Given the description of an element on the screen output the (x, y) to click on. 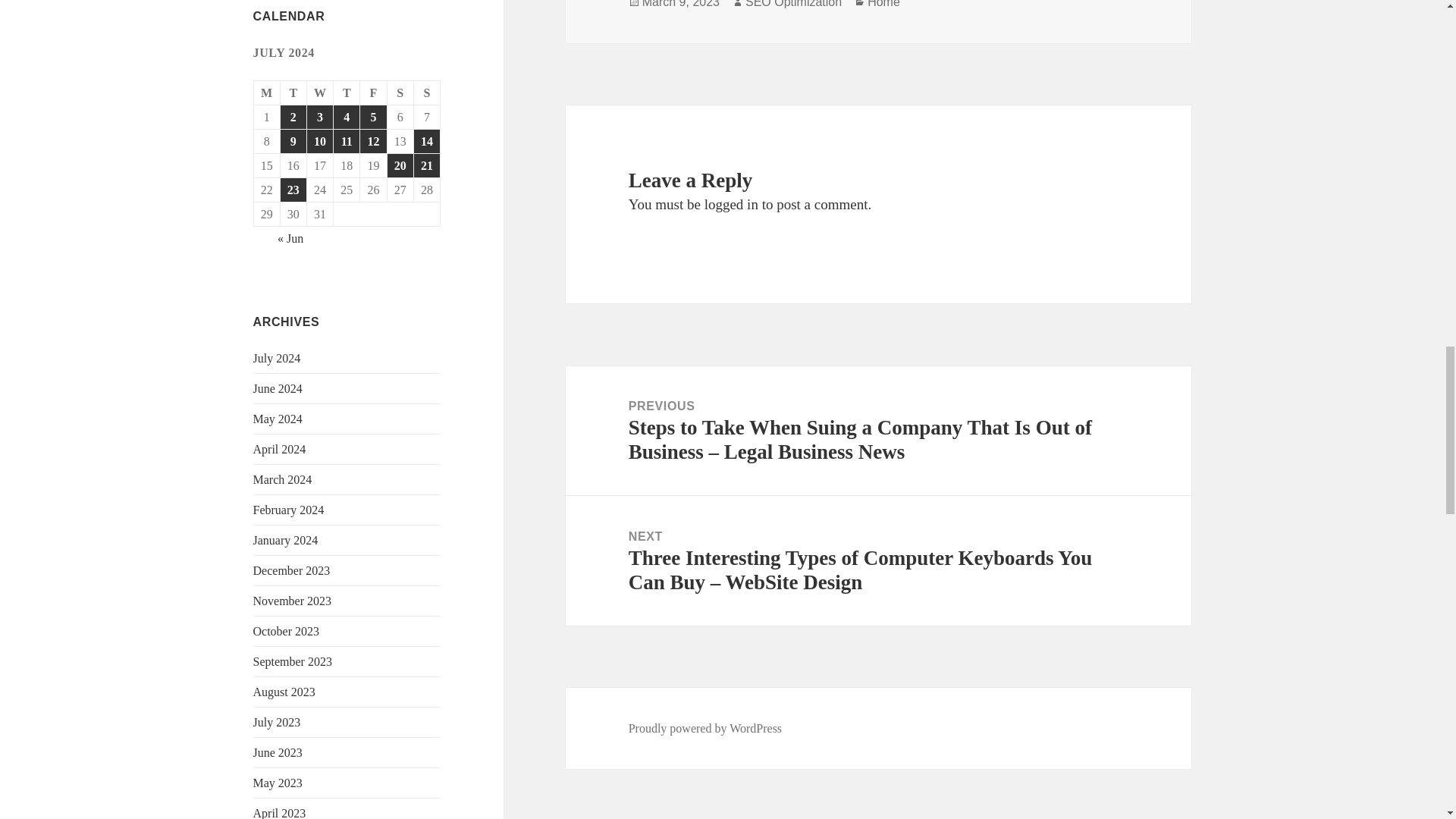
March 2024 (283, 479)
July 2024 (277, 358)
December 2023 (291, 570)
23 (293, 189)
10 (320, 141)
Monday (267, 93)
21 (426, 165)
April 2024 (279, 449)
4 (346, 116)
9 (293, 141)
Wednesday (320, 93)
February 2024 (288, 509)
November 2023 (292, 600)
3 (320, 116)
Tuesday (294, 93)
